Given the description of an element on the screen output the (x, y) to click on. 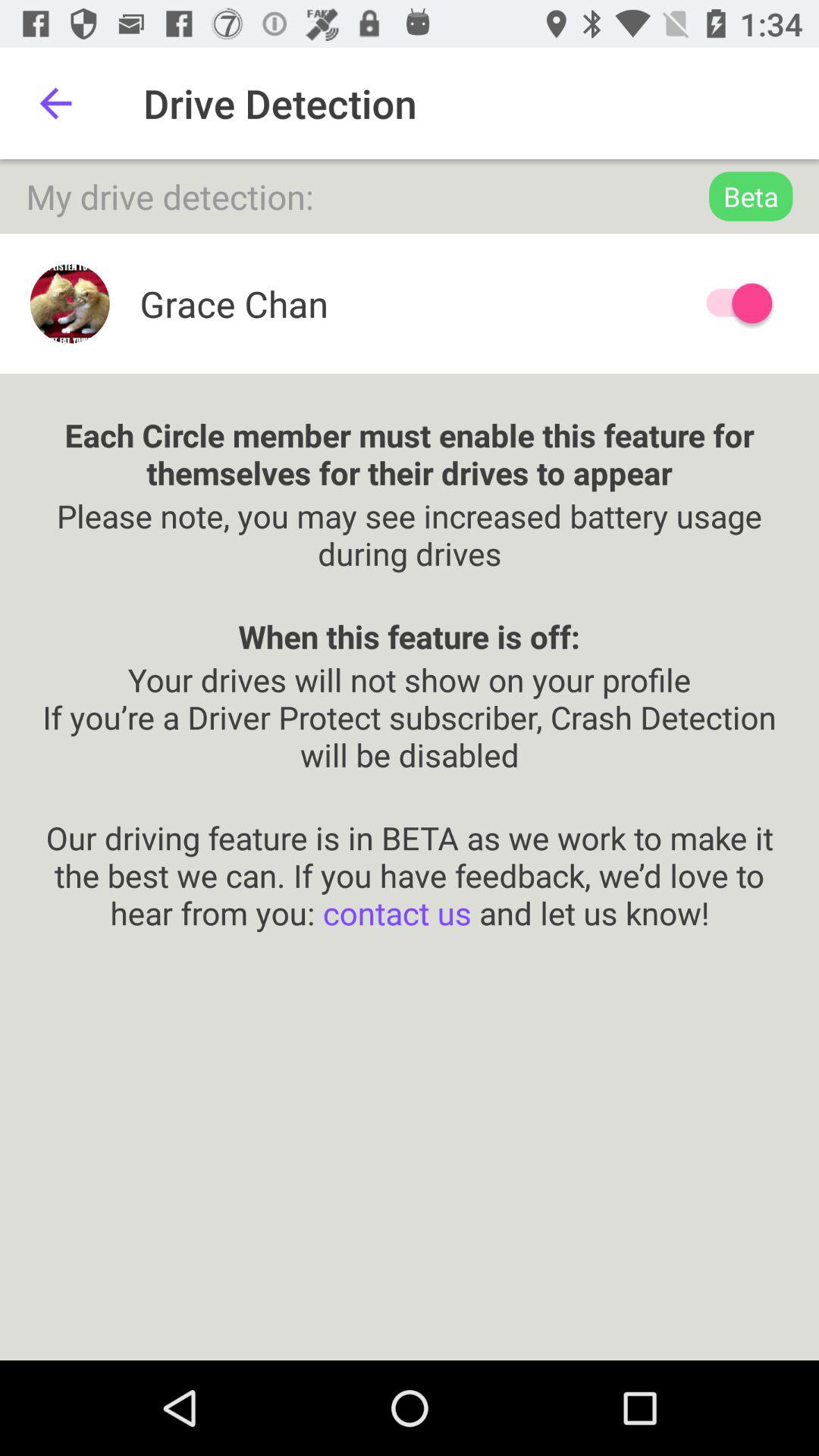
choose the our driving feature (409, 855)
